Given the description of an element on the screen output the (x, y) to click on. 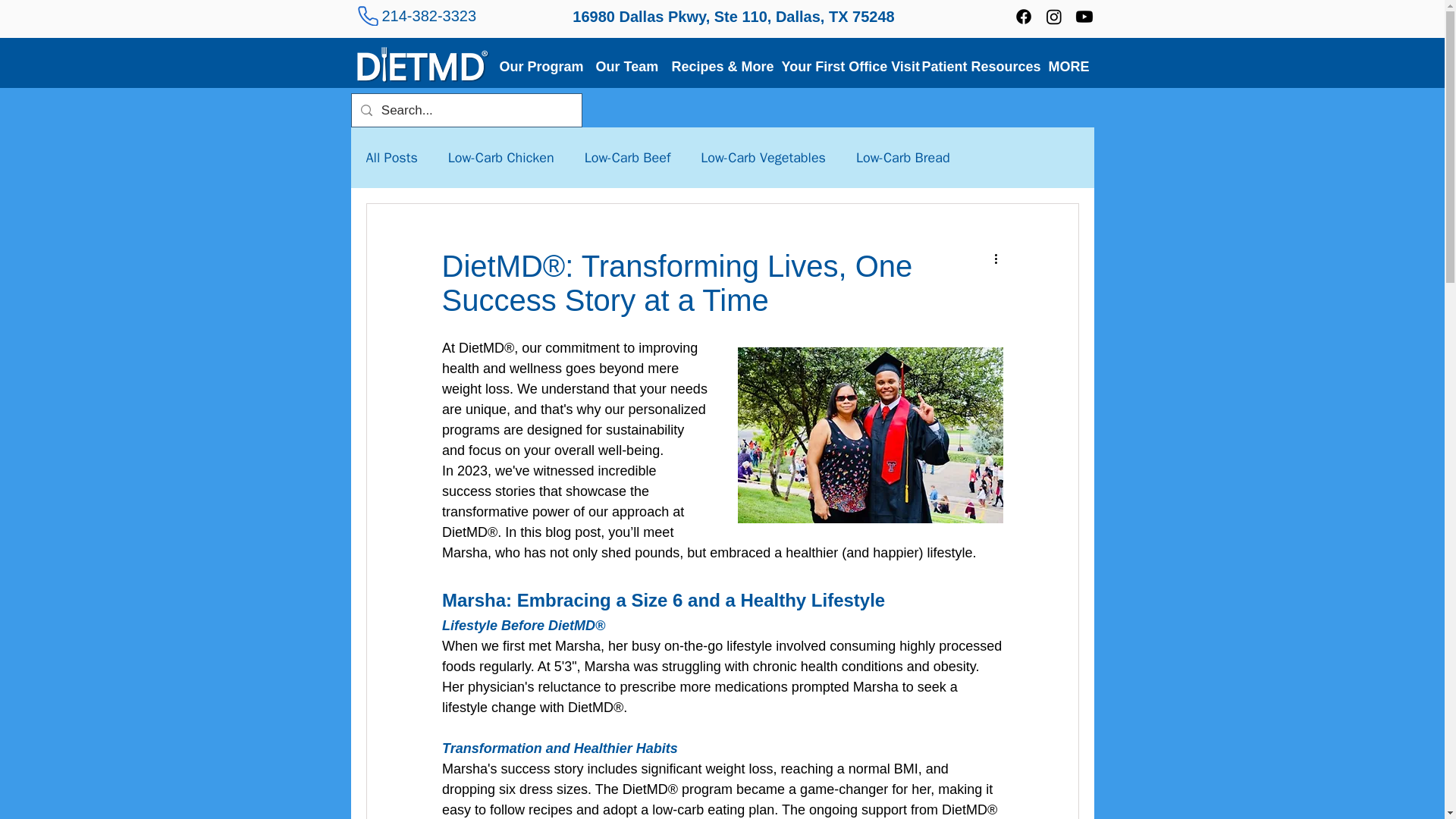
Low-Carb Vegetables (762, 157)
All Posts (390, 157)
Our Program (537, 64)
16980 Dallas Pkwy, Ste 110, Dallas, TX 75248 (732, 16)
Low-Carb Bread (903, 157)
Your First Office Visit (841, 64)
Patient Resources (974, 64)
214-382-3323 (429, 15)
Our Team (623, 64)
Low-Carb Beef (628, 157)
Low-Carb Chicken (501, 157)
